Given the description of an element on the screen output the (x, y) to click on. 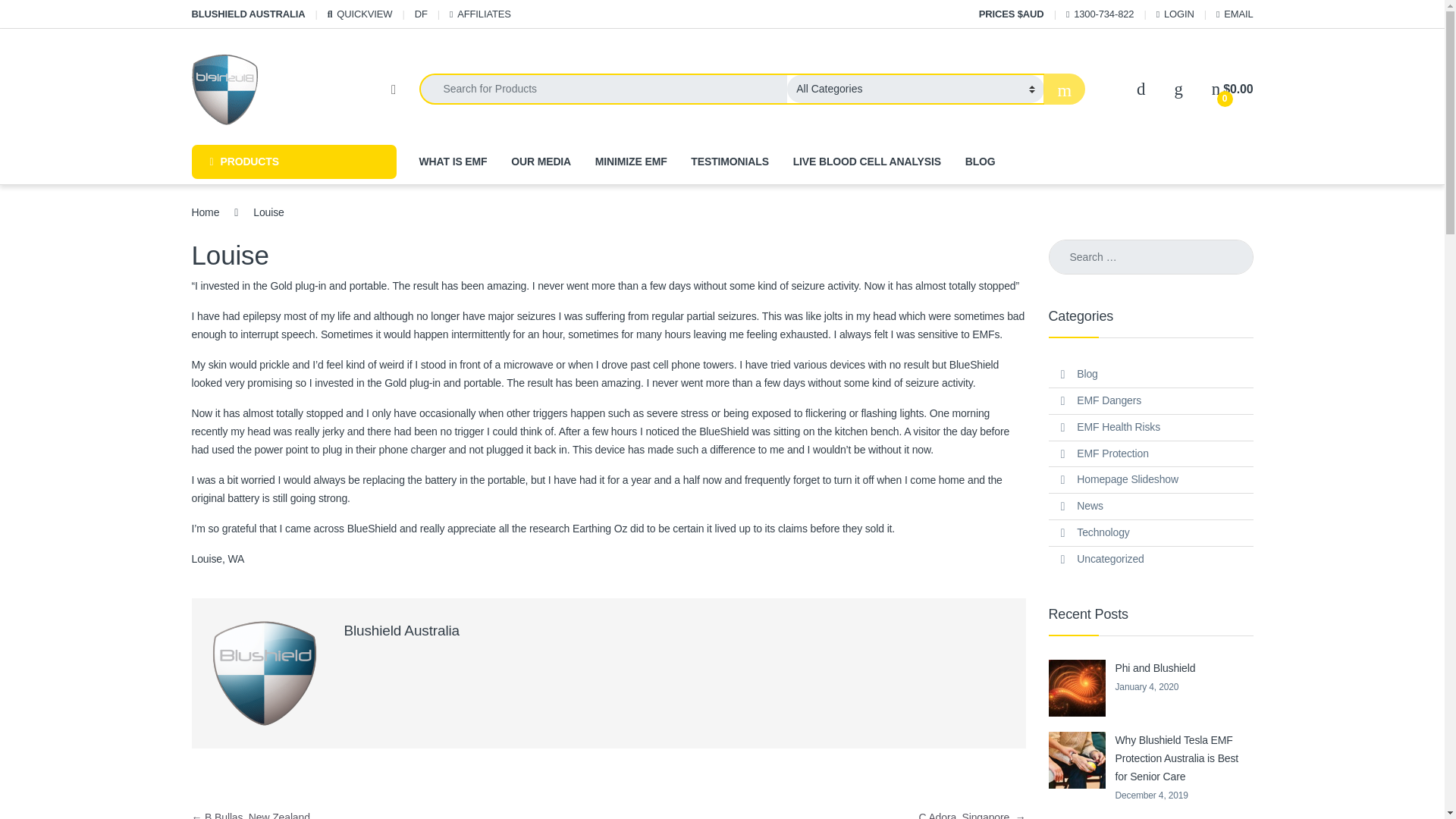
OUR MEDIA (540, 161)
1300-734-822 (1099, 13)
EMAIL (1234, 13)
1300-734-822 (1099, 13)
AFFILIATES (480, 13)
QUICKVIEW (360, 13)
WHAT IS EMF (452, 161)
MINIMIZE EMF (630, 161)
QUICKVIEW (360, 13)
LIVE BLOOD CELL ANALYSIS (866, 161)
